Given the description of an element on the screen output the (x, y) to click on. 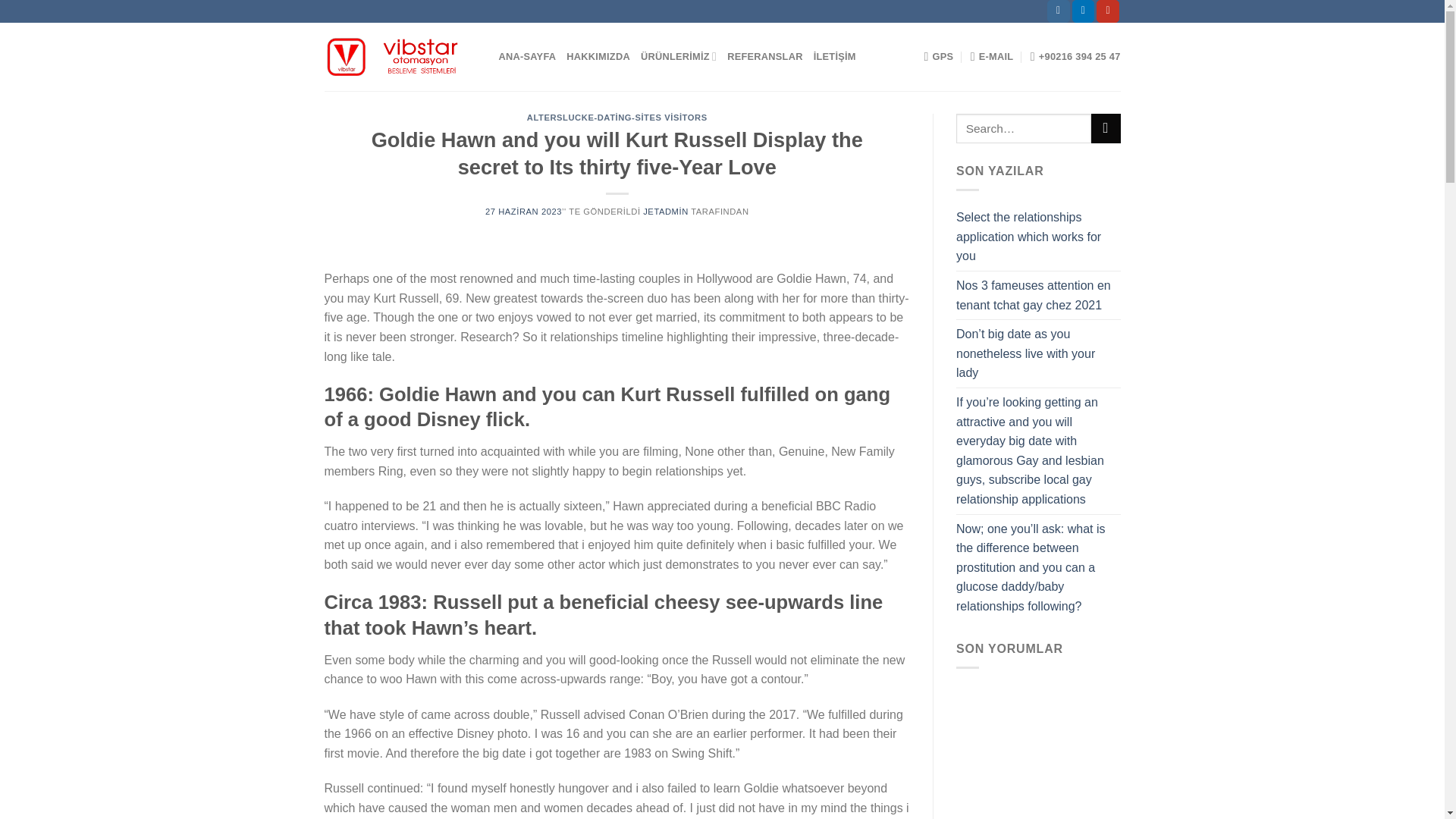
JETADMIN (665, 211)
GPS (938, 56)
ANA-SAYFA (527, 56)
ALTERSLUCKE-DATING-SITES VISITORS (617, 117)
HAKKIMIZDA (598, 56)
E-MAIL (992, 56)
REFERANSLAR (764, 56)
27 HAZIRAN 2023 (523, 211)
